Given the description of an element on the screen output the (x, y) to click on. 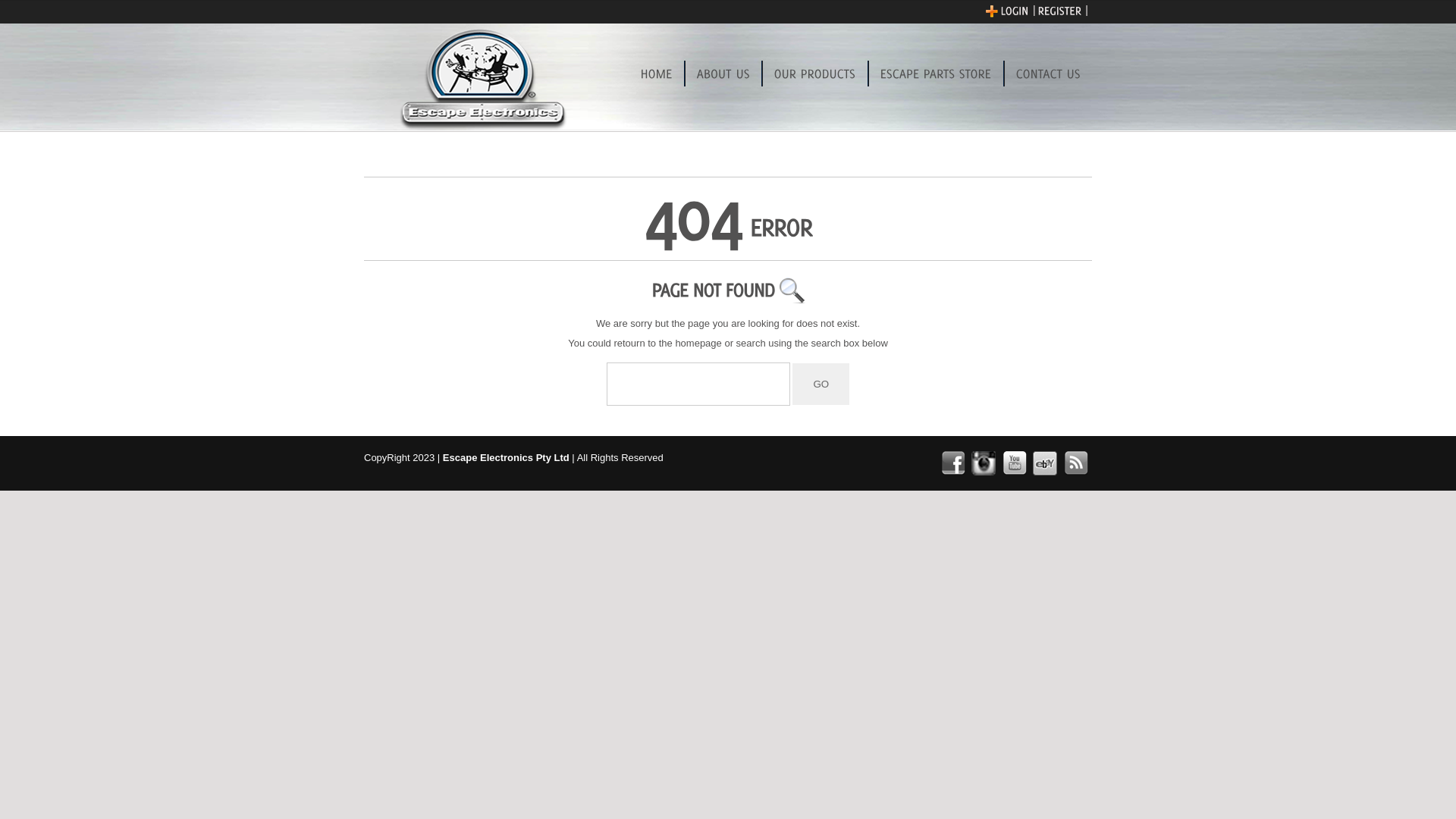
homepage Element type: text (697, 342)
GO Element type: text (820, 383)
facebook Element type: text (952, 463)
instagram Element type: text (983, 463)
youtube Element type: text (1014, 463)
rss Element type: text (1075, 463)
ebay-Store Element type: text (1044, 463)
